Given the description of an element on the screen output the (x, y) to click on. 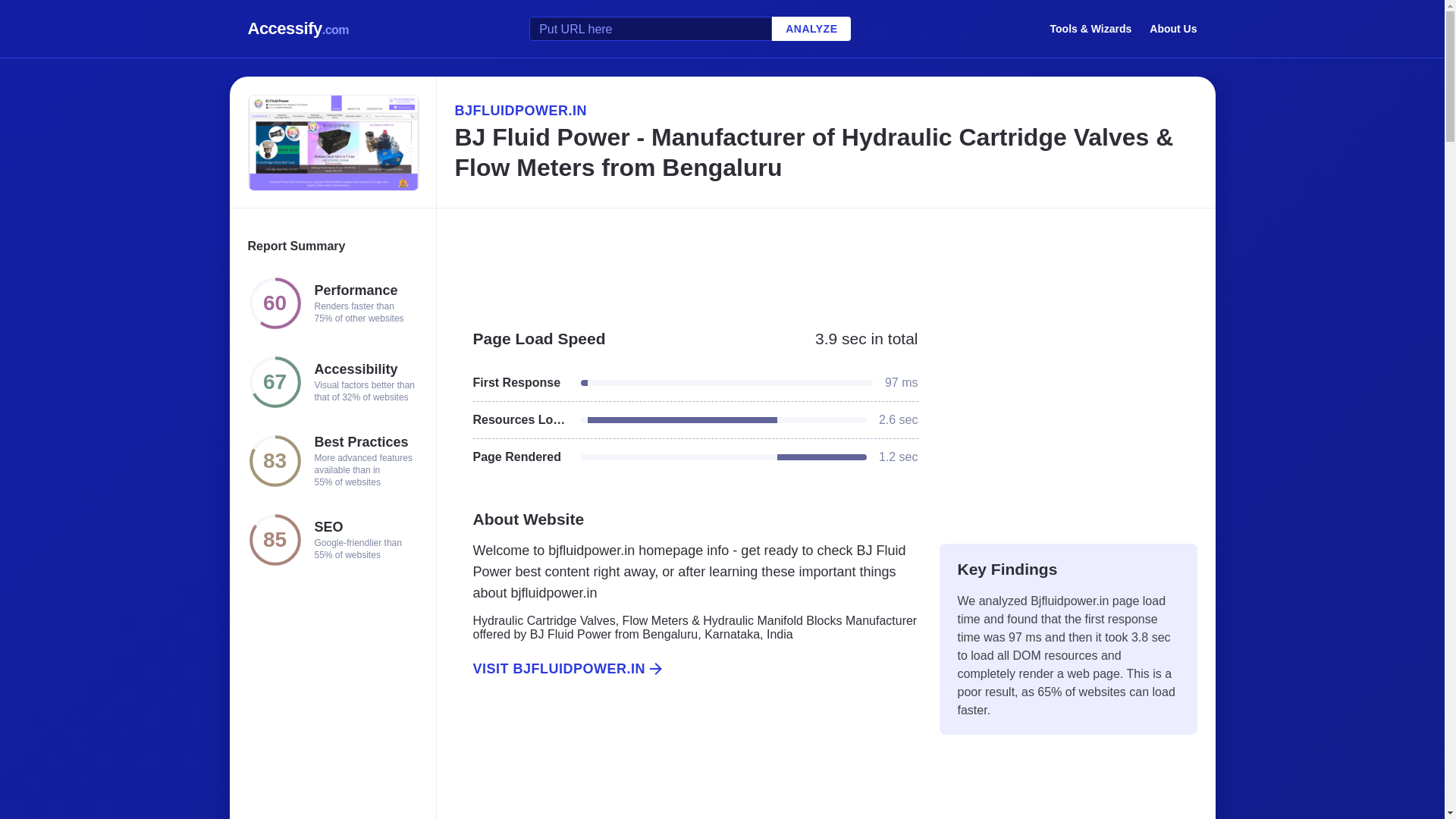
Advertisement (1067, 418)
Advertisement (686, 765)
About Us (1173, 28)
VISIT BJFLUIDPOWER.IN (686, 669)
BJFLUIDPOWER.IN (825, 110)
Advertisement (825, 260)
ANALYZE (810, 28)
Accessify.com (298, 28)
